Given the description of an element on the screen output the (x, y) to click on. 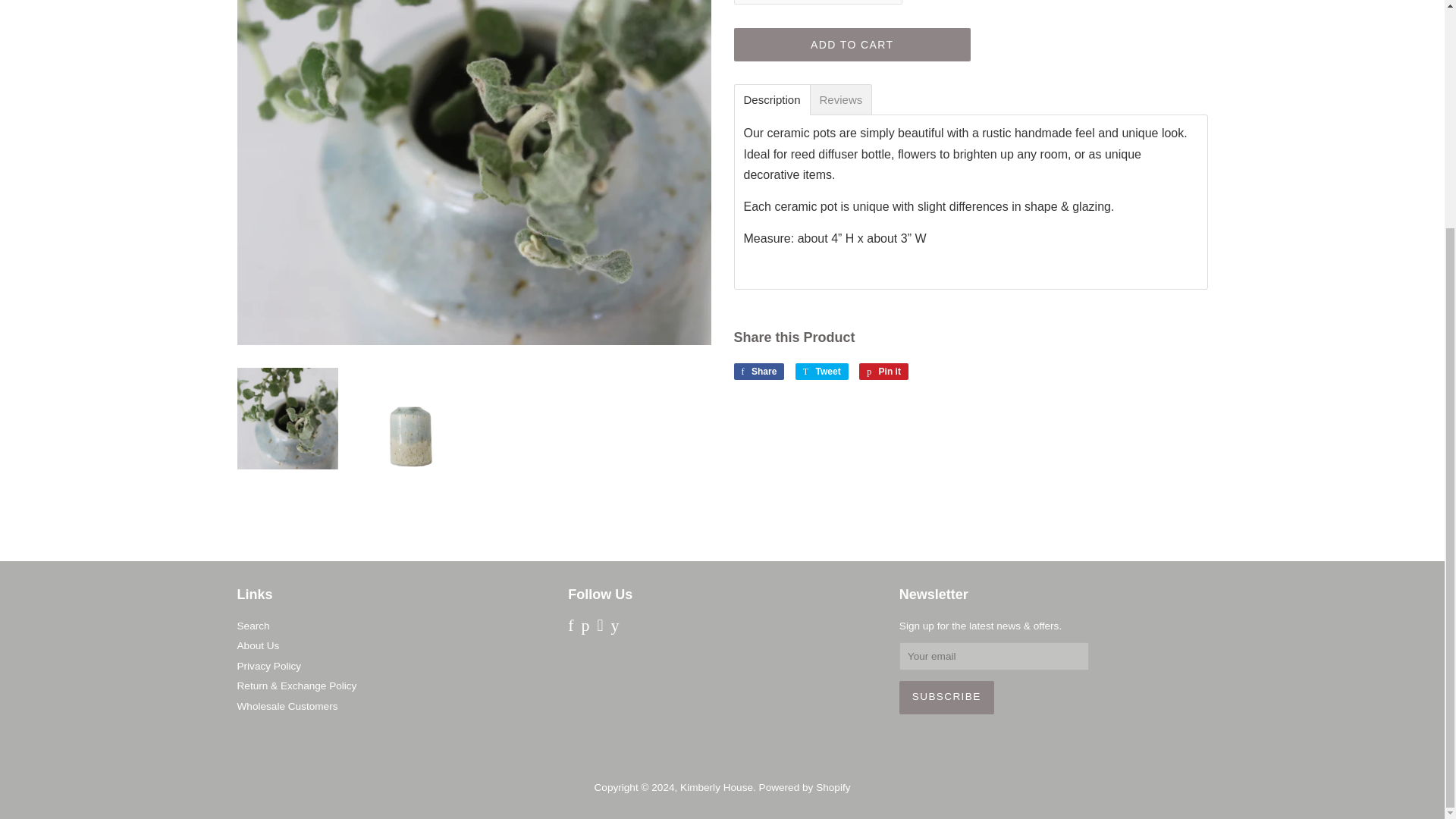
1 (817, 2)
Reviews (841, 99)
Subscribe (946, 697)
ADD TO CART (852, 44)
Description (770, 99)
Share on Facebook (758, 371)
Tweet on Twitter (821, 371)
Pin on Pinterest (883, 371)
